Given the description of an element on the screen output the (x, y) to click on. 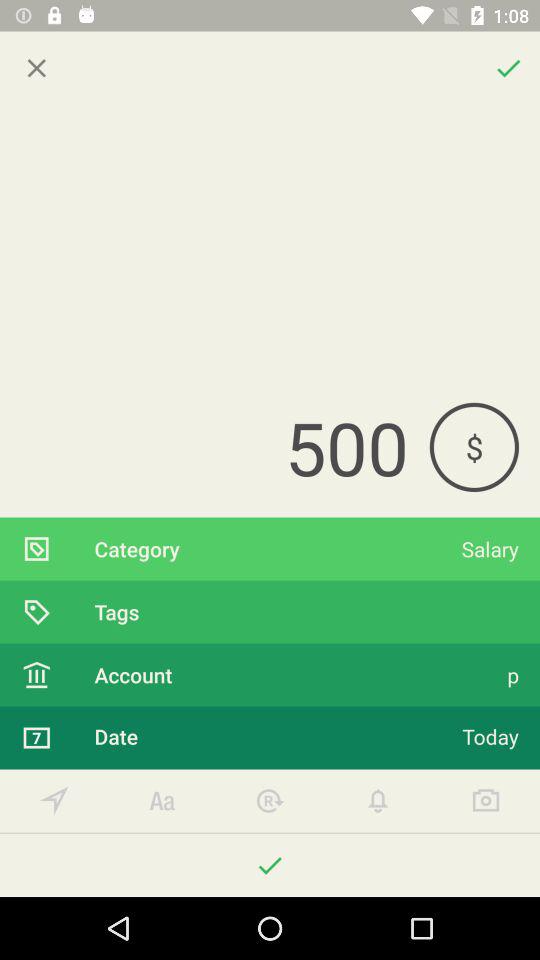
turn on camera (486, 800)
